Given the description of an element on the screen output the (x, y) to click on. 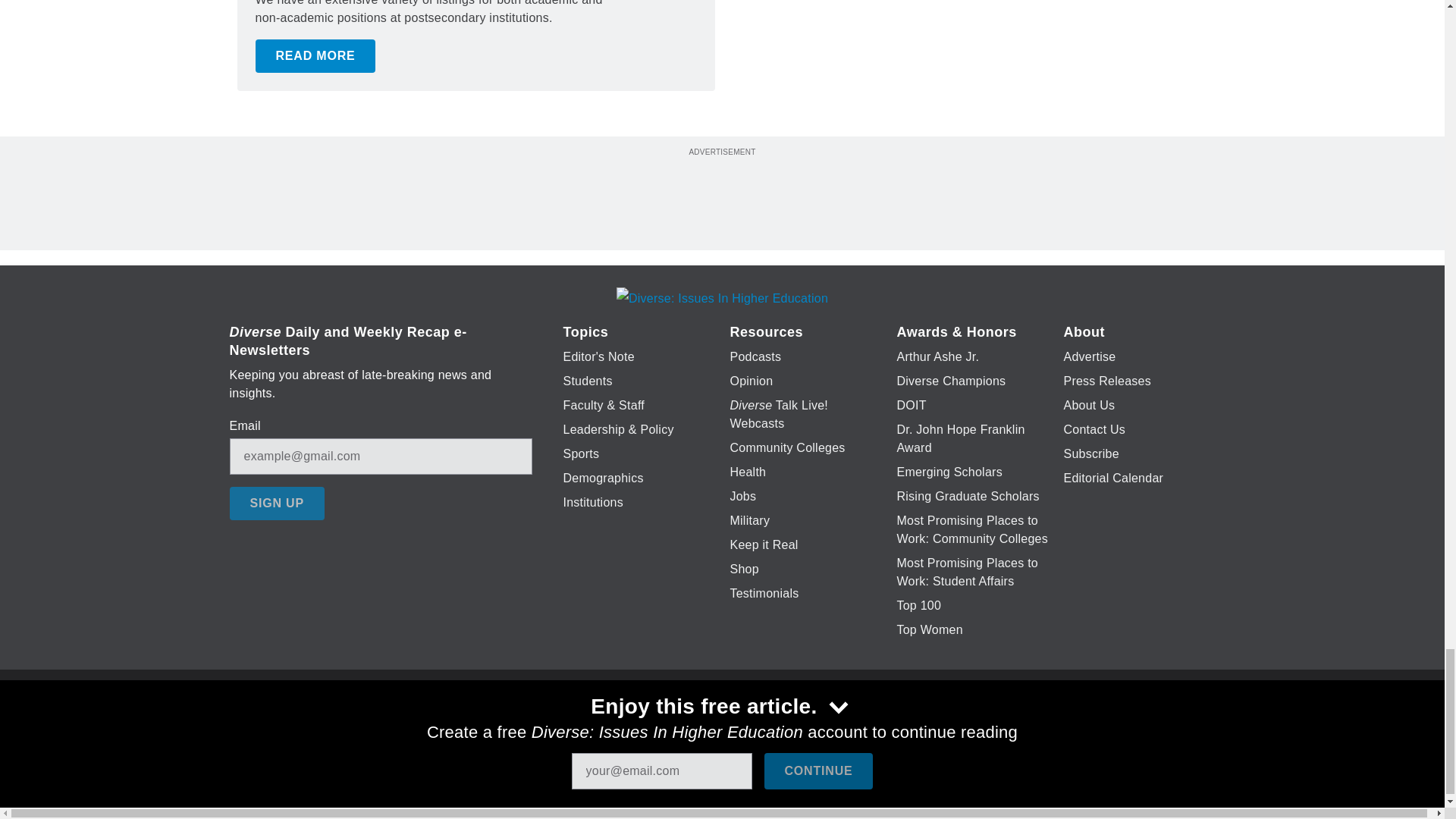
Twitter X icon (674, 727)
YouTube icon (757, 727)
LinkedIn icon (718, 727)
Instagram icon (796, 727)
Facebook icon (635, 727)
